Given the description of an element on the screen output the (x, y) to click on. 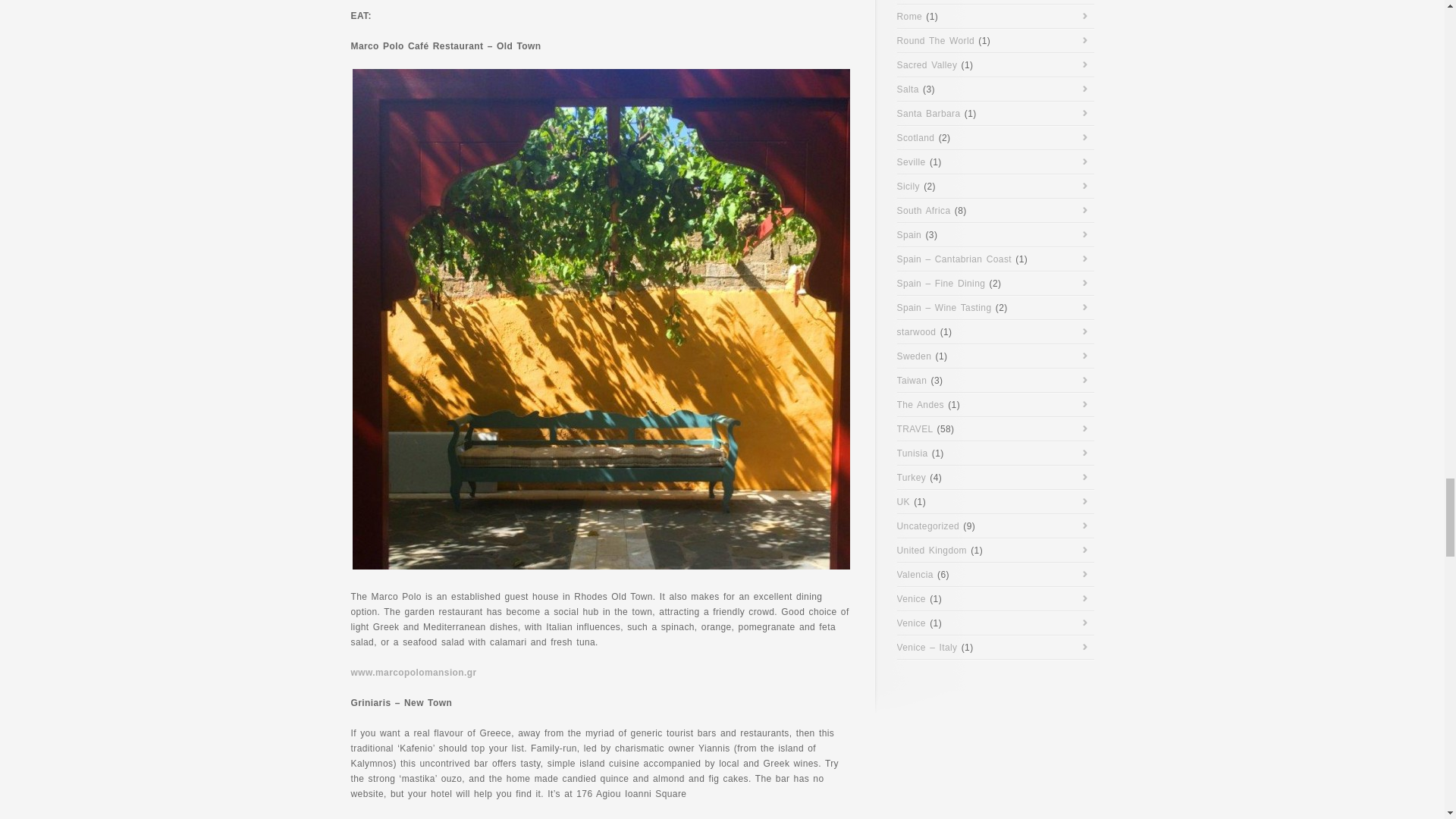
www.marcopolomansion.gr (413, 672)
